Given the description of an element on the screen output the (x, y) to click on. 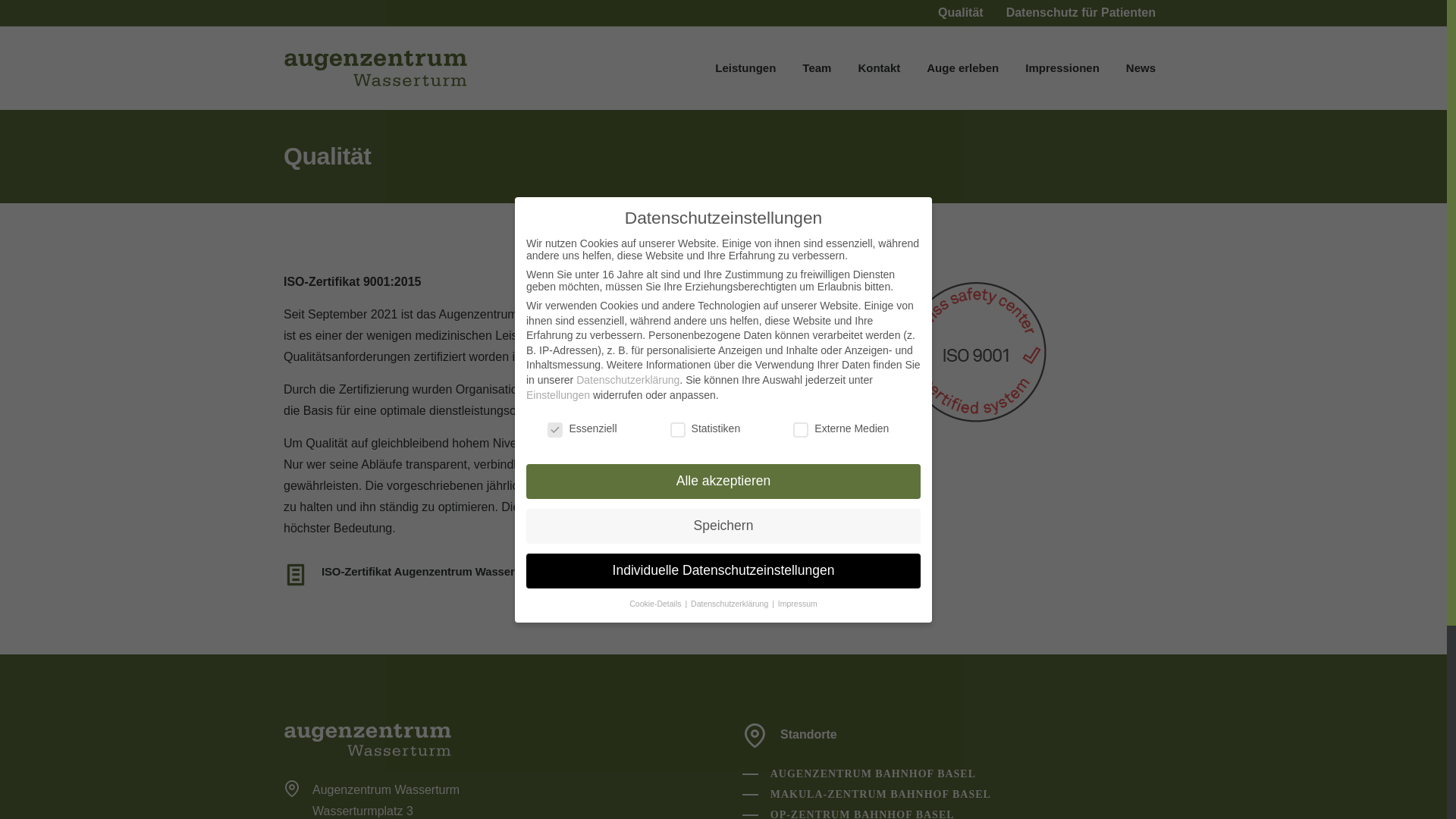
MAKULA-ZENTRUM BAHNHOF BASEL Element type: text (866, 794)
Alle akzeptieren Element type: text (723, 481)
AUGENZENTRUM BAHNHOF BASEL Element type: text (858, 773)
Standorte Element type: text (808, 734)
Team Element type: text (816, 67)
Impressum Element type: text (797, 603)
SSC_ISO9001 Element type: hover (976, 352)
News Element type: text (1140, 67)
Einstellungen Element type: text (557, 395)
Augenzentrum Wasserturm Element type: hover (367, 739)
ISO-Norm 9001:2015 Element type: text (697, 313)
Kontakt Element type: text (878, 67)
Speichern Element type: text (723, 525)
Individuelle Datenschutzeinstellungen Element type: text (723, 570)
Auge erleben Element type: text (962, 67)
ISO-Zertifikat Augenzentrum Wasserturm Element type: text (430, 570)
Impressionen Element type: text (1062, 67)
Cookie-Details Element type: text (656, 603)
Leistungen Element type: text (745, 67)
